Given the description of an element on the screen output the (x, y) to click on. 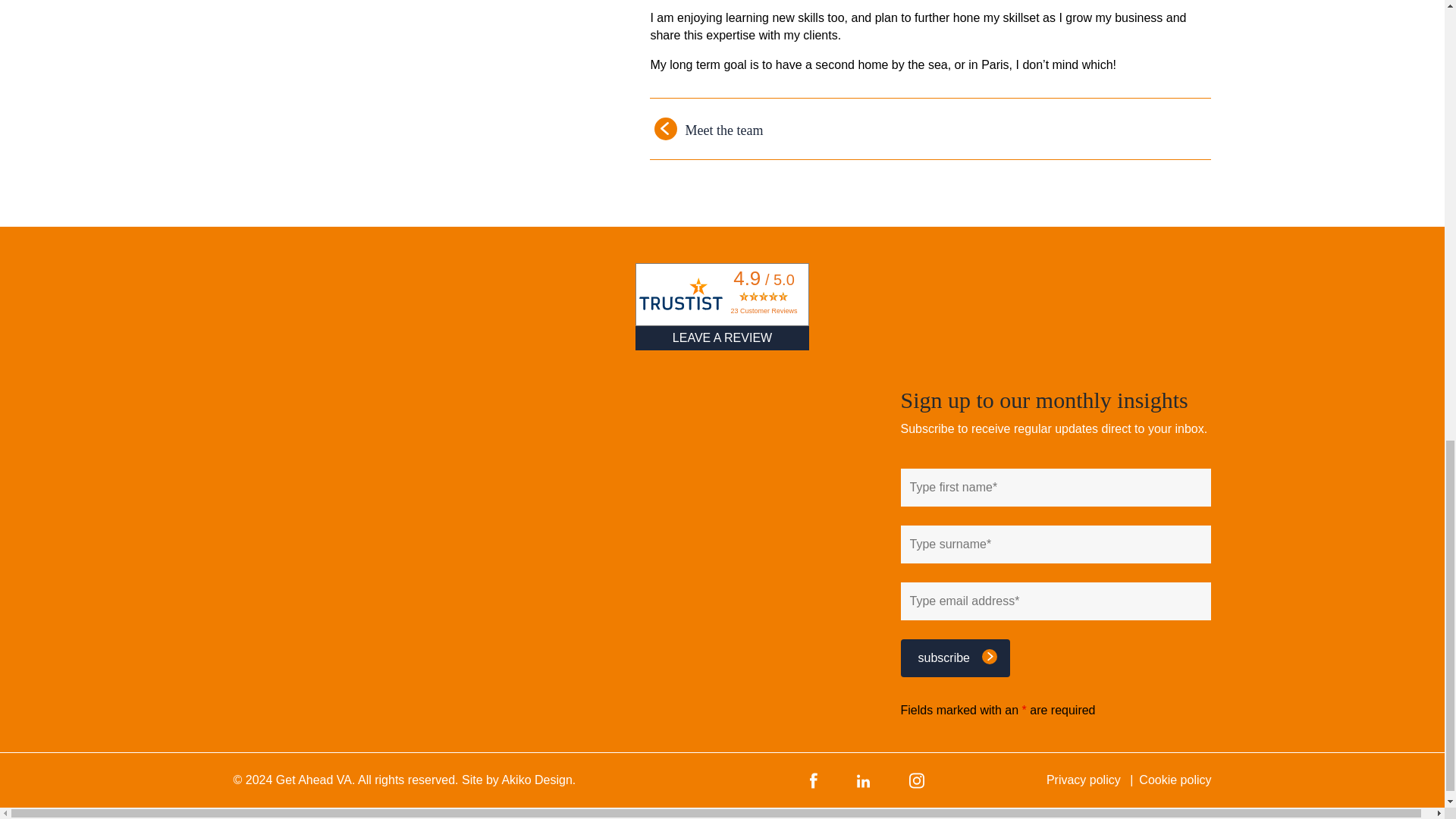
Follow us on Instagram (916, 779)
Follow us on LinkedIn (863, 779)
Site by Akiko Design (518, 779)
